Given the description of an element on the screen output the (x, y) to click on. 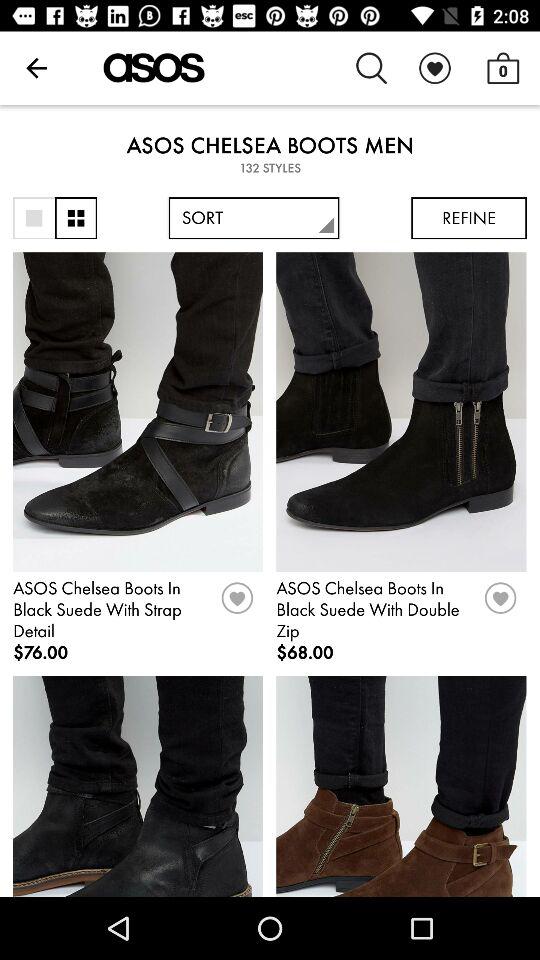
press the icon below the 132 styles (468, 218)
